Given the description of an element on the screen output the (x, y) to click on. 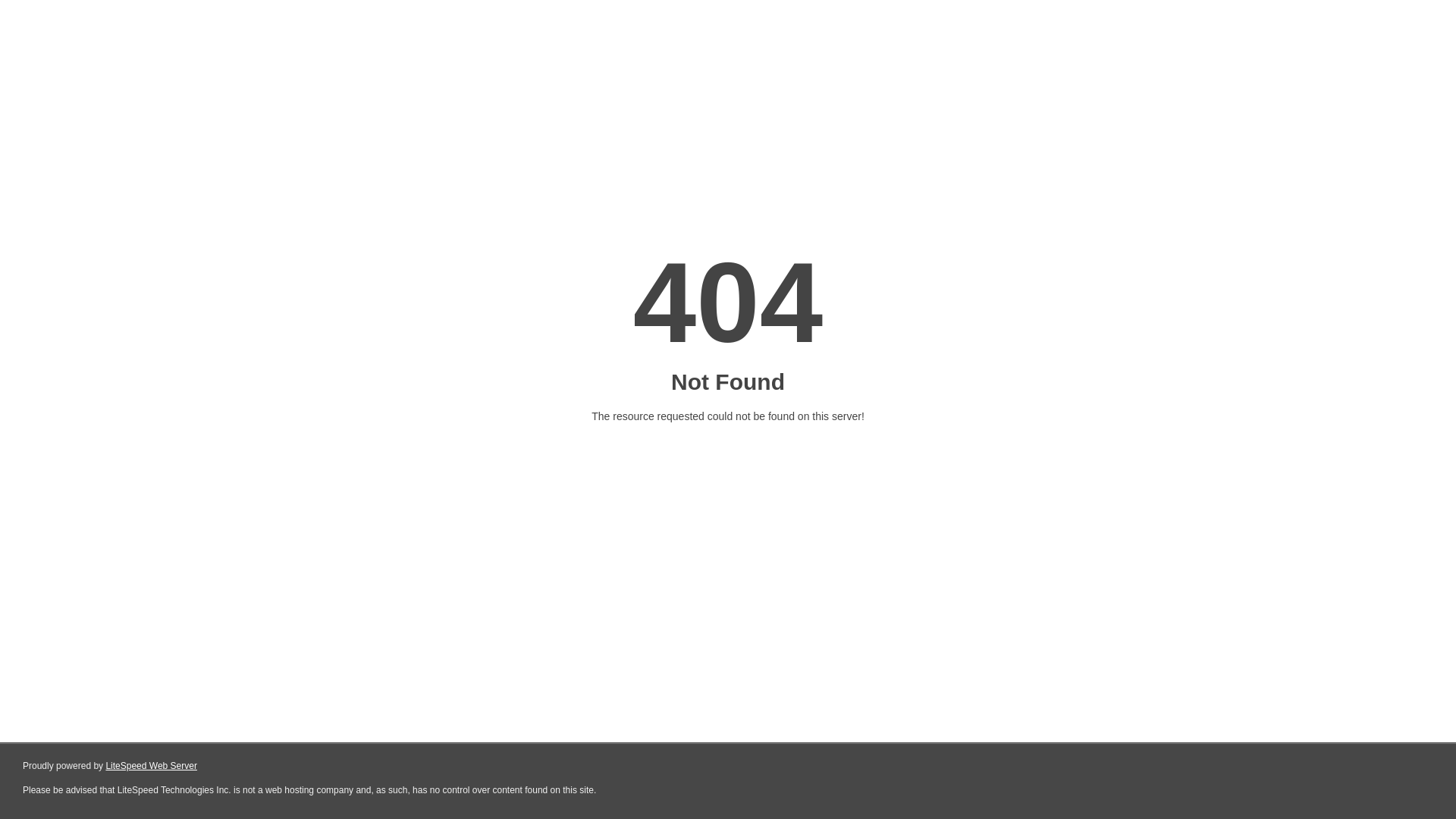
LiteSpeed Web Server Element type: text (151, 765)
